Given the description of an element on the screen output the (x, y) to click on. 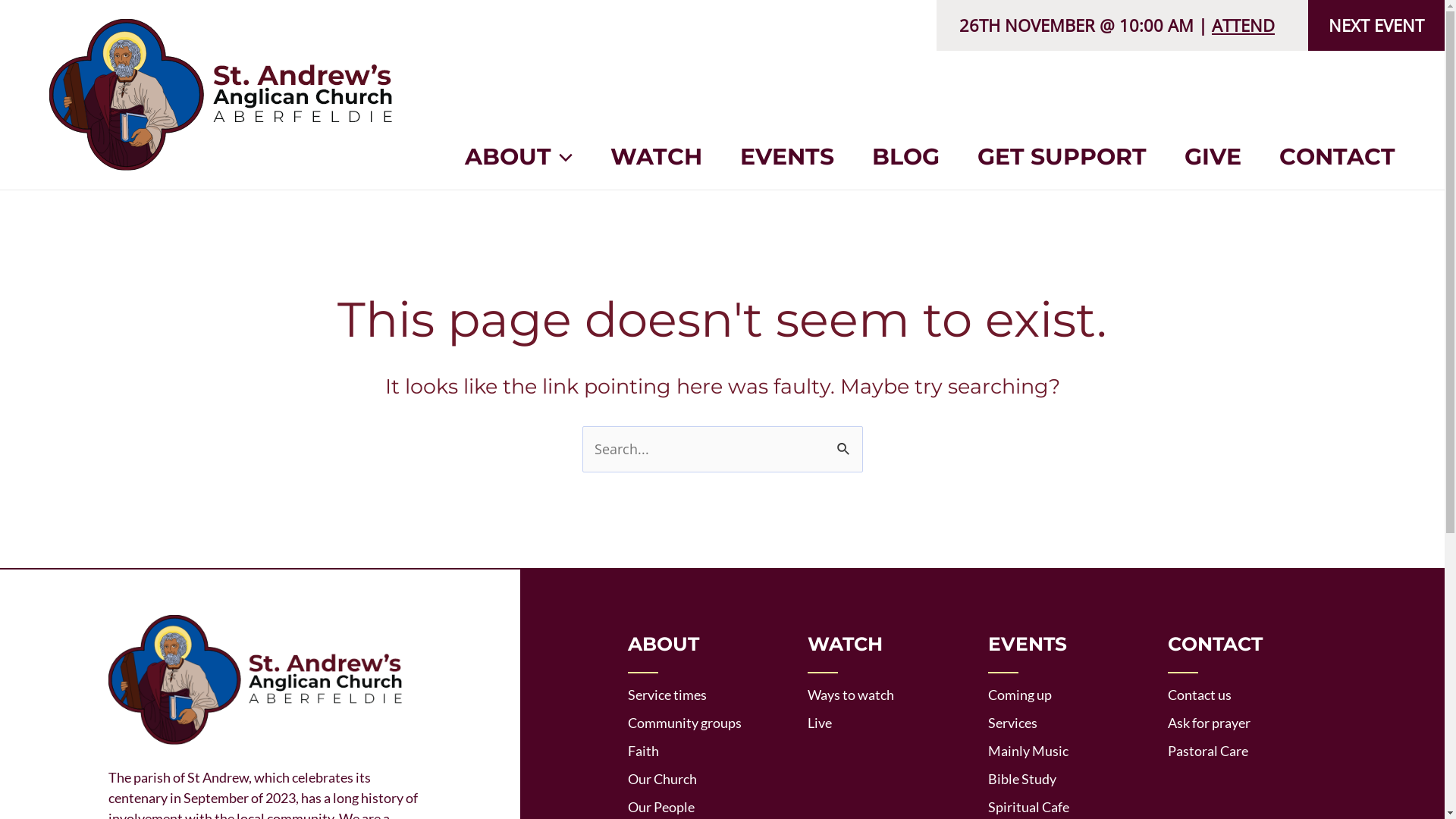
Our People Element type: text (660, 806)
ATTEND Element type: text (1242, 24)
Ways to watch Element type: text (850, 694)
Contact us Element type: text (1199, 694)
EVENTS Element type: text (787, 156)
Search Element type: text (845, 442)
Coming up Element type: text (1019, 694)
Pastoral Care Element type: text (1207, 750)
Spiritual Cafe Element type: text (1027, 806)
WATCH Element type: text (656, 156)
Faith Element type: text (642, 750)
CONTACT Element type: text (1327, 156)
Ask for prayer Element type: text (1208, 722)
Services Element type: text (1011, 722)
Live Element type: text (819, 722)
ABOUT Element type: text (527, 156)
Bible Study Element type: text (1021, 778)
Community groups Element type: text (684, 722)
Our Church Element type: text (661, 778)
BLOG Element type: text (905, 156)
GIVE Element type: text (1212, 156)
Service times Element type: text (666, 694)
GET SUPPORT Element type: text (1061, 156)
Mainly Music Element type: text (1027, 750)
